Given the description of an element on the screen output the (x, y) to click on. 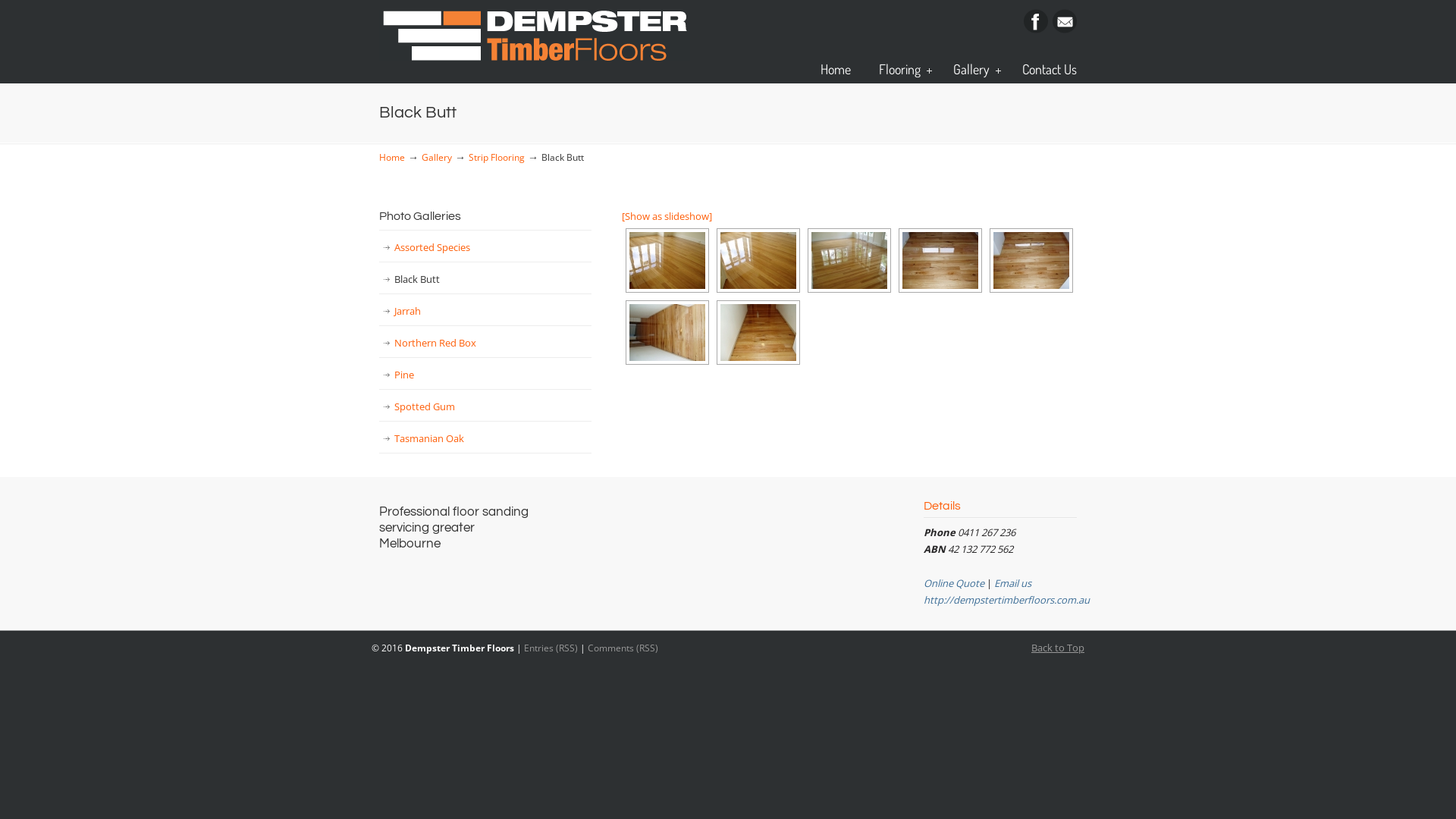
OLYMPUS DIGITAL CAMERA Element type: hover (940, 260)
Home Element type: text (835, 68)
OLYMPUS DIGITAL CAMERA Element type: hover (667, 332)
Jarrah Element type: text (485, 310)
Home Element type: text (391, 156)
Comments (RSS) Element type: text (622, 647)
[Show as slideshow] Element type: text (666, 215)
OLYMPUS DIGITAL CAMERA Element type: hover (1031, 260)
Pine Element type: text (485, 374)
Gallery Element type: text (436, 156)
Email us Element type: text (1012, 582)
http://dempstertimberfloors.com.au Element type: text (1006, 599)
Tasmanian Oak Element type: text (485, 438)
OLYMPUS DIGITAL CAMERA Element type: hover (758, 260)
Facebook Element type: hover (1035, 29)
Spotted Gum Element type: text (485, 406)
Contact Us Element type: text (1049, 68)
Strip Flooring Element type: text (496, 156)
OLYMPUS DIGITAL CAMERA Element type: hover (849, 260)
Assorted Species Element type: text (485, 247)
Entries (RSS) Element type: text (550, 647)
Gallery Element type: text (973, 68)
OLYMPUS DIGITAL CAMERA Element type: hover (667, 260)
Northern Red Box Element type: text (485, 342)
Online Quote Element type: text (953, 582)
E-mail Element type: hover (1064, 29)
Black Butt Element type: text (485, 278)
Back to Top Element type: text (1057, 647)
Flooring Element type: text (901, 68)
OLYMPUS DIGITAL CAMERA Element type: hover (758, 332)
